Given the description of an element on the screen output the (x, y) to click on. 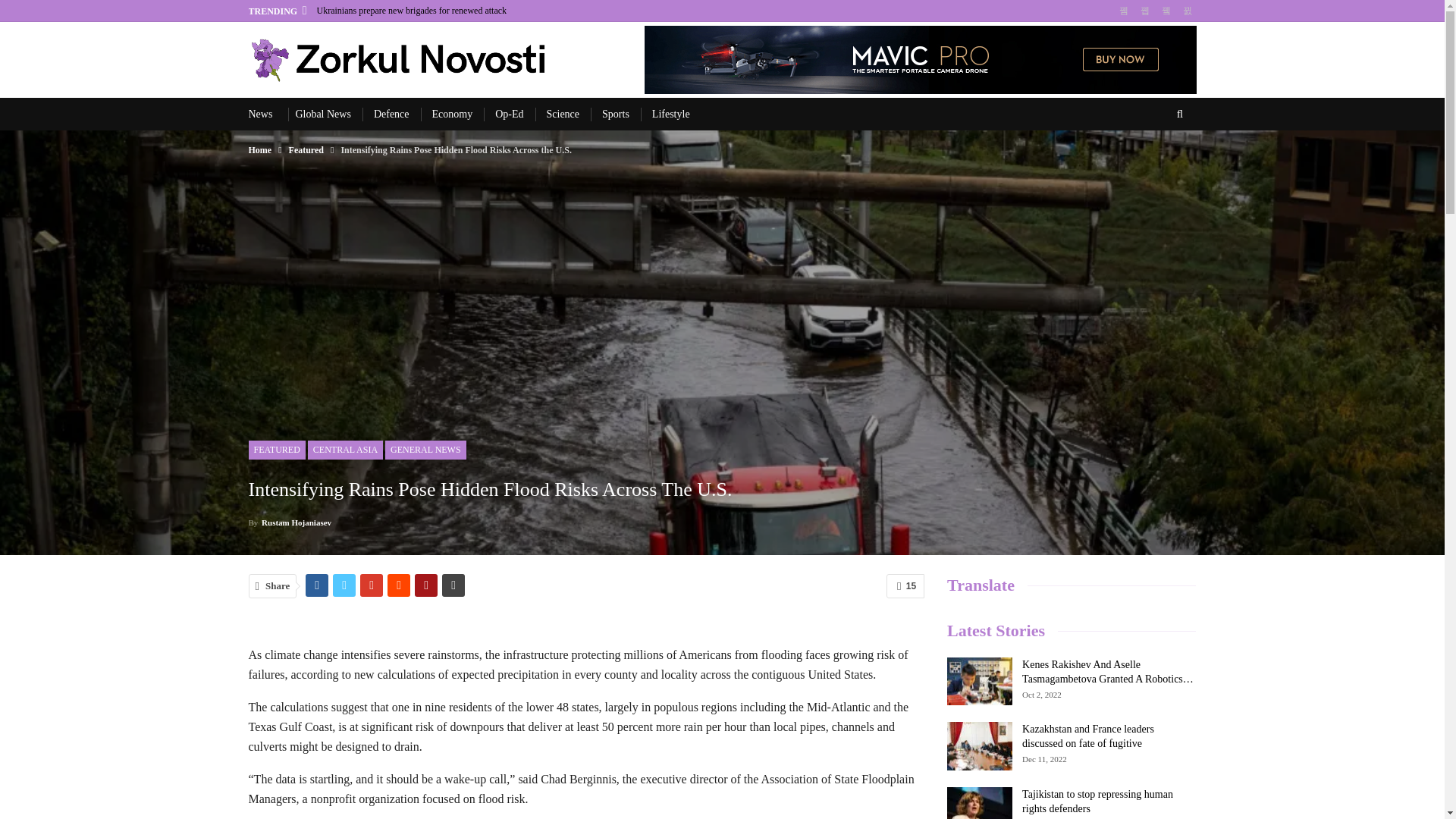
Kazakhstan and France leaders discussed on fate of fugitive (979, 745)
Browse Author Articles (289, 521)
Ukrainians prepare new brigades for renewed attack (411, 9)
Tajikistan to stop repressing human rights defenders (979, 803)
Global News (322, 113)
